Given the description of an element on the screen output the (x, y) to click on. 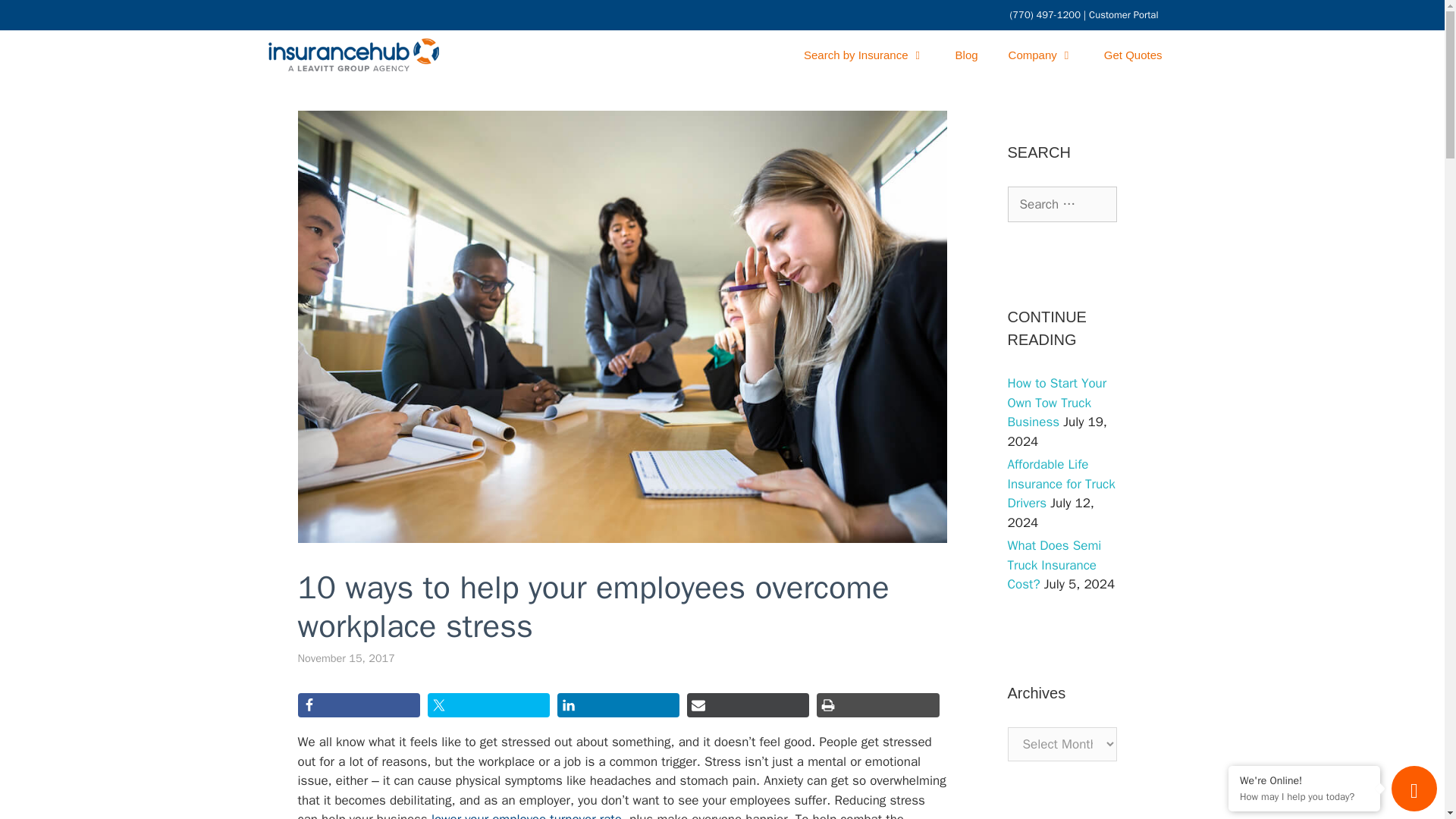
InsuranceHub (356, 55)
Search for: (1061, 204)
Share on Facebook (358, 704)
Share on Twitter (489, 704)
How may I help you today? (1304, 796)
InsuranceHub (352, 55)
Share on LinkedIn (618, 704)
Share via Email (748, 704)
Customer Portal (1123, 14)
We're Online! (1304, 780)
Print this Page (877, 704)
